Given the description of an element on the screen output the (x, y) to click on. 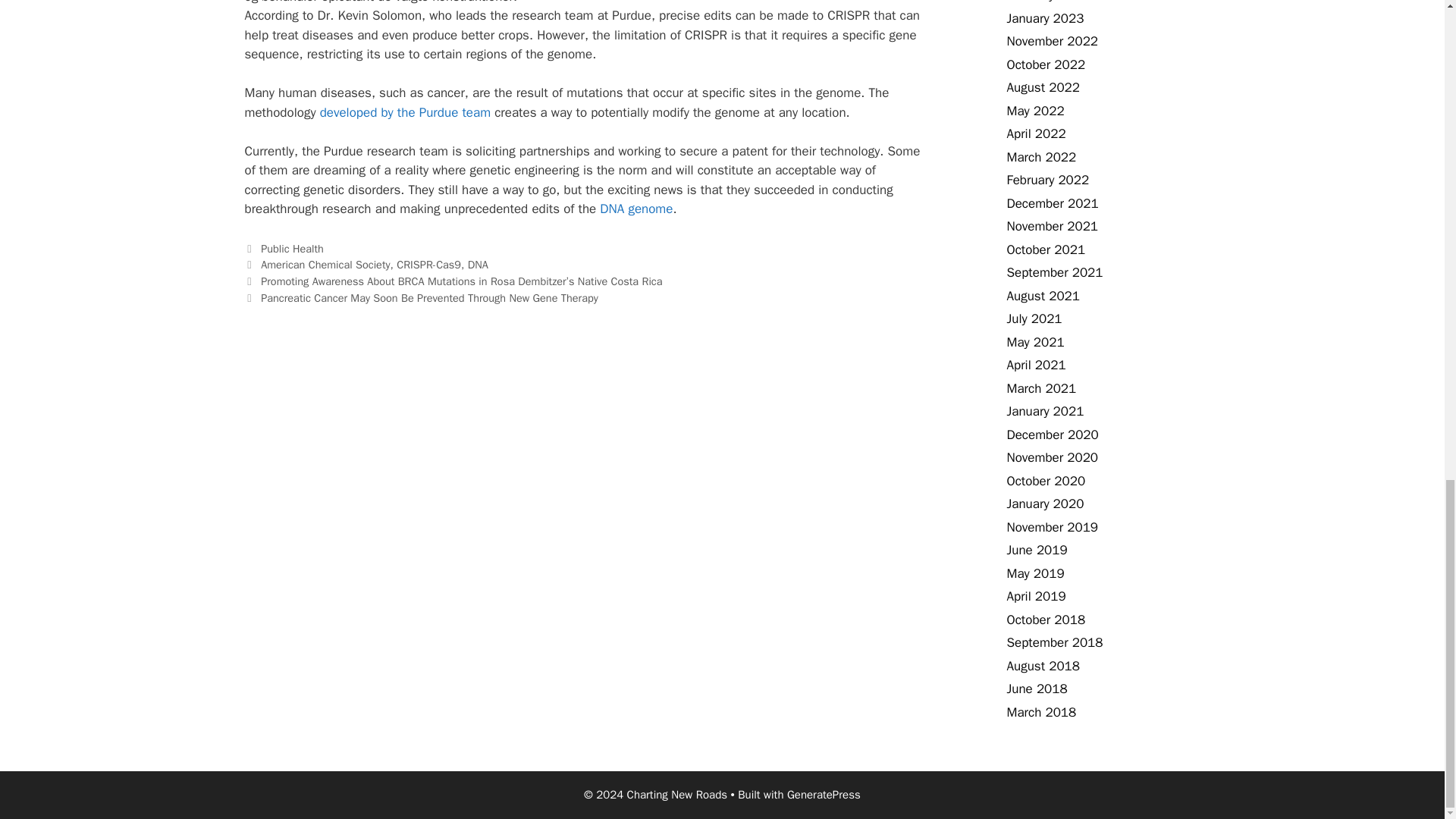
CRISPR-Cas9 (428, 264)
developed by the Purdue team (405, 112)
DNA (477, 264)
Public Health (291, 248)
American Chemical Society (325, 264)
Scroll back to top (1406, 365)
DNA genome (635, 208)
